Given the description of an element on the screen output the (x, y) to click on. 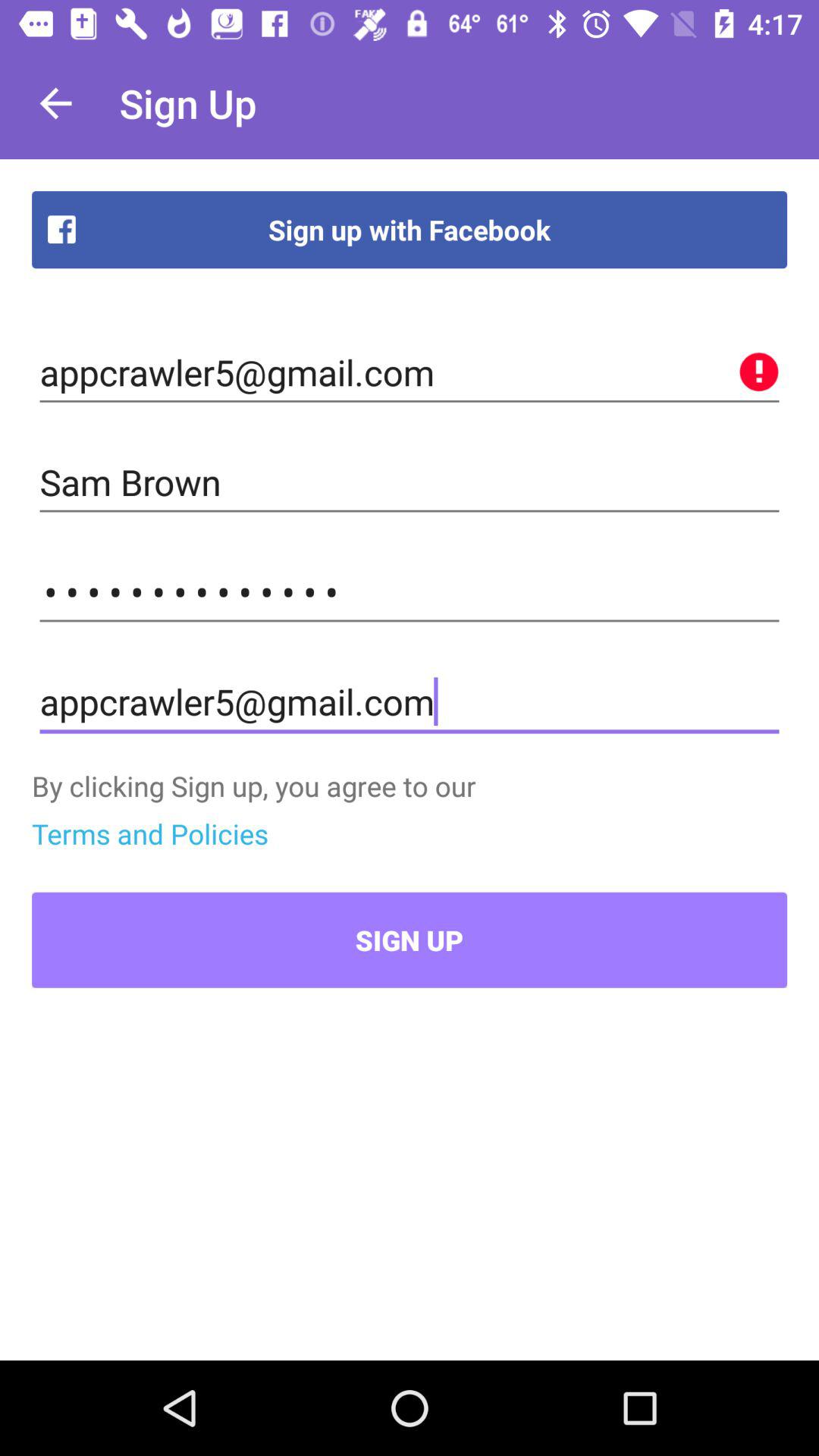
open the icon above sign up item (149, 833)
